Given the description of an element on the screen output the (x, y) to click on. 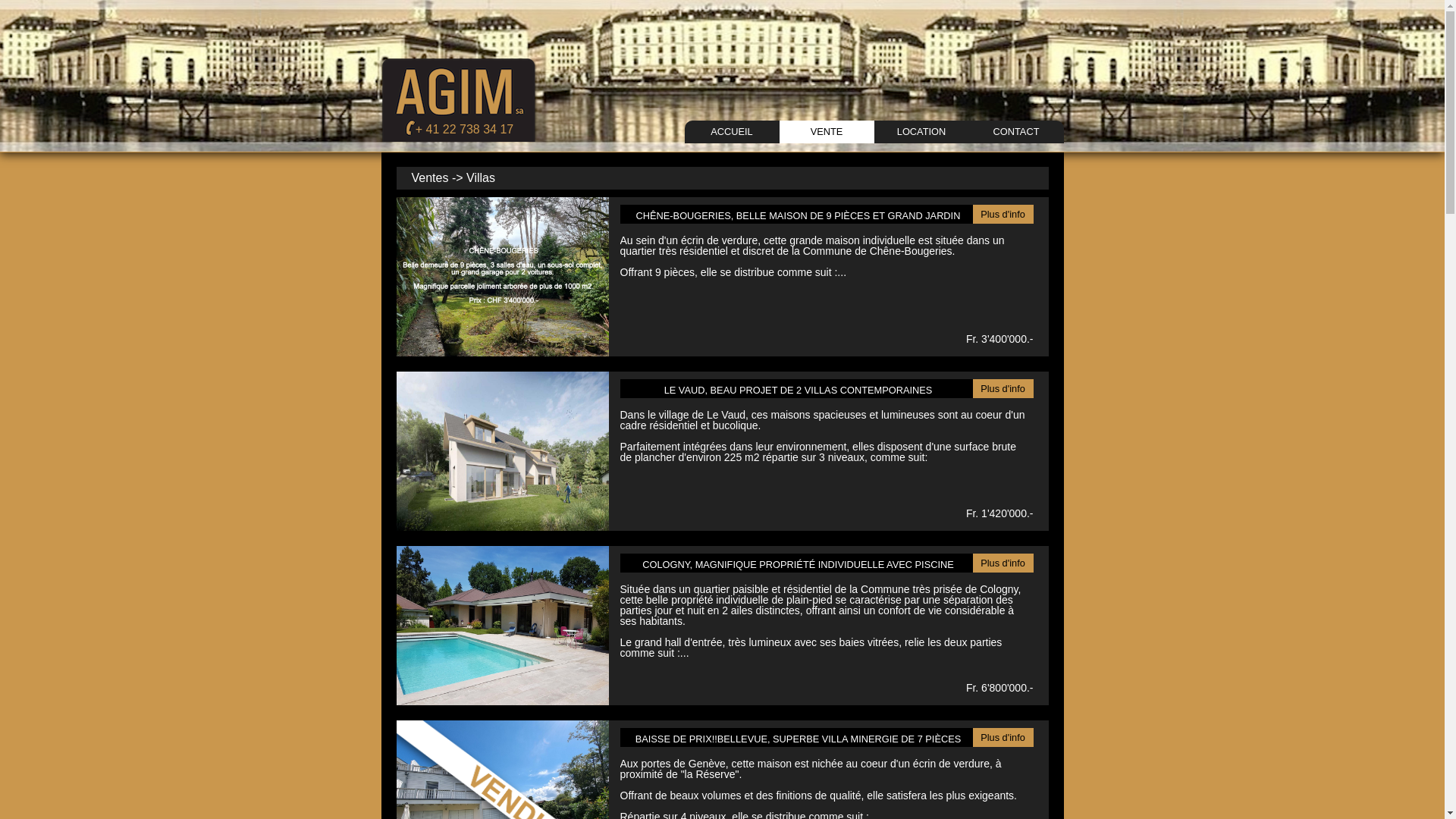
Plus d'info Element type: text (1002, 388)
CONTACT Element type: text (1016, 131)
VENTE Element type: text (826, 131)
ACCUEIL Element type: text (731, 131)
Plus d'info Element type: text (1002, 737)
Plus d'info Element type: text (1002, 213)
Plus d'info Element type: text (1002, 562)
LOCATION Element type: text (920, 131)
